Given the description of an element on the screen output the (x, y) to click on. 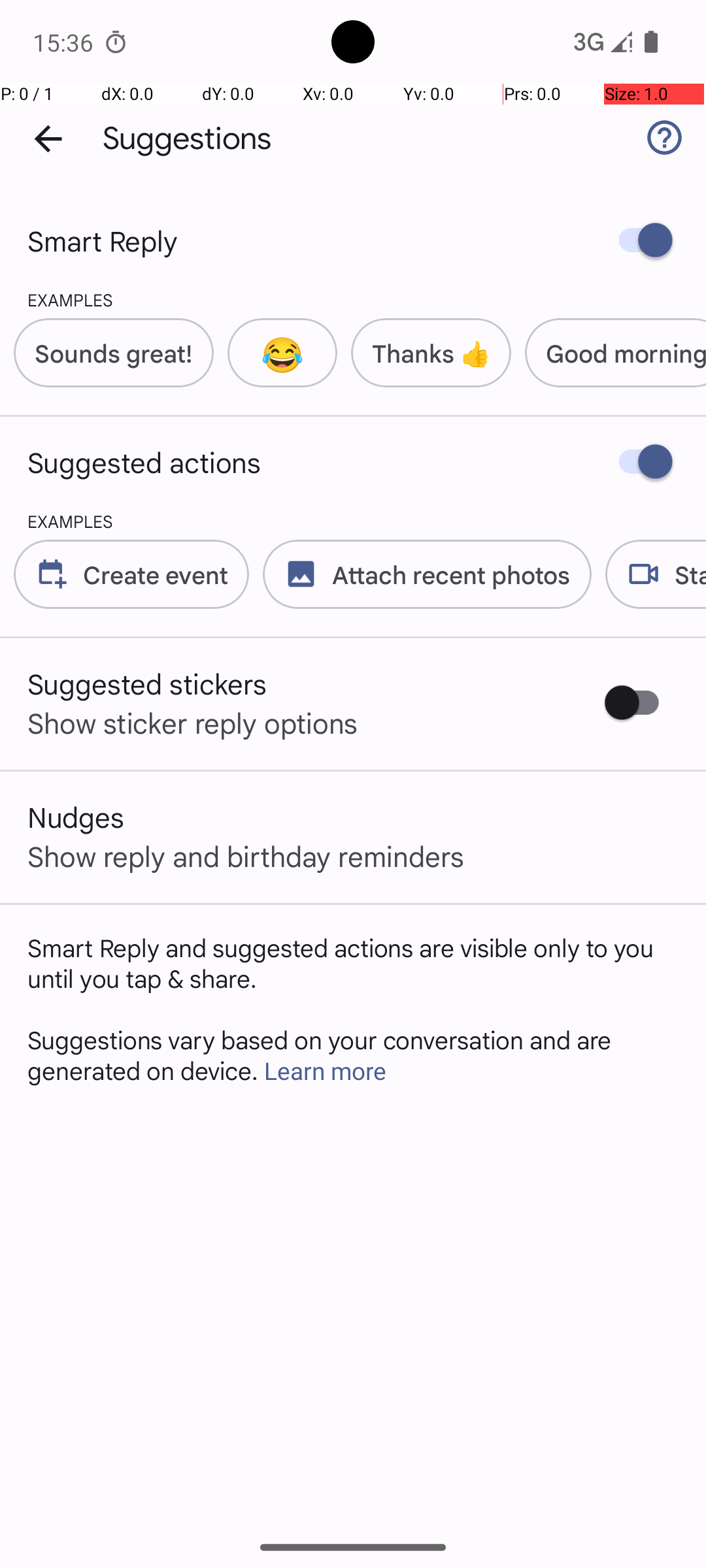
Smart Reply and suggested actions are visible only to you until you tap & share. 

Suggestions vary based on your conversation and are generated on device. Learn more Element type: android.widget.TextView (353, 1008)
Smart Reply Element type: android.widget.TextView (102, 240)
EXAMPLES Element type: android.widget.TextView (56, 299)
Suggested actions Element type: android.widget.TextView (143, 461)
Suggested stickers Element type: android.widget.TextView (147, 682)
Show sticker reply options Element type: android.widget.TextView (192, 722)
Nudges Element type: android.widget.TextView (75, 816)
Show reply and birthday reminders Element type: android.widget.TextView (245, 855)
Suggested reply: Sounds great! Element type: android.widget.FrameLayout (106, 352)
Suggested reply: 😂 Element type: android.widget.FrameLayout (275, 352)
Suggested reply: Thanks 👍 Element type: android.widget.FrameLayout (424, 352)
Suggested reply: Good morning Element type: android.widget.FrameLayout (608, 352)
Suggested calendar action: Create event Element type: android.widget.FrameLayout (124, 574)
Attach recent photos Element type: android.widget.FrameLayout (420, 574)
Start video call Element type: android.widget.FrameLayout (648, 574)
Sounds great! Element type: android.widget.TextView (113, 352)
😂 Element type: android.widget.TextView (281, 352)
Thanks 👍 Element type: android.widget.TextView (430, 352)
Good morning Element type: android.widget.TextView (625, 352)
Action icon Element type: android.widget.ImageView (51, 573)
Create event Element type: android.widget.TextView (155, 573)
